Given the description of an element on the screen output the (x, y) to click on. 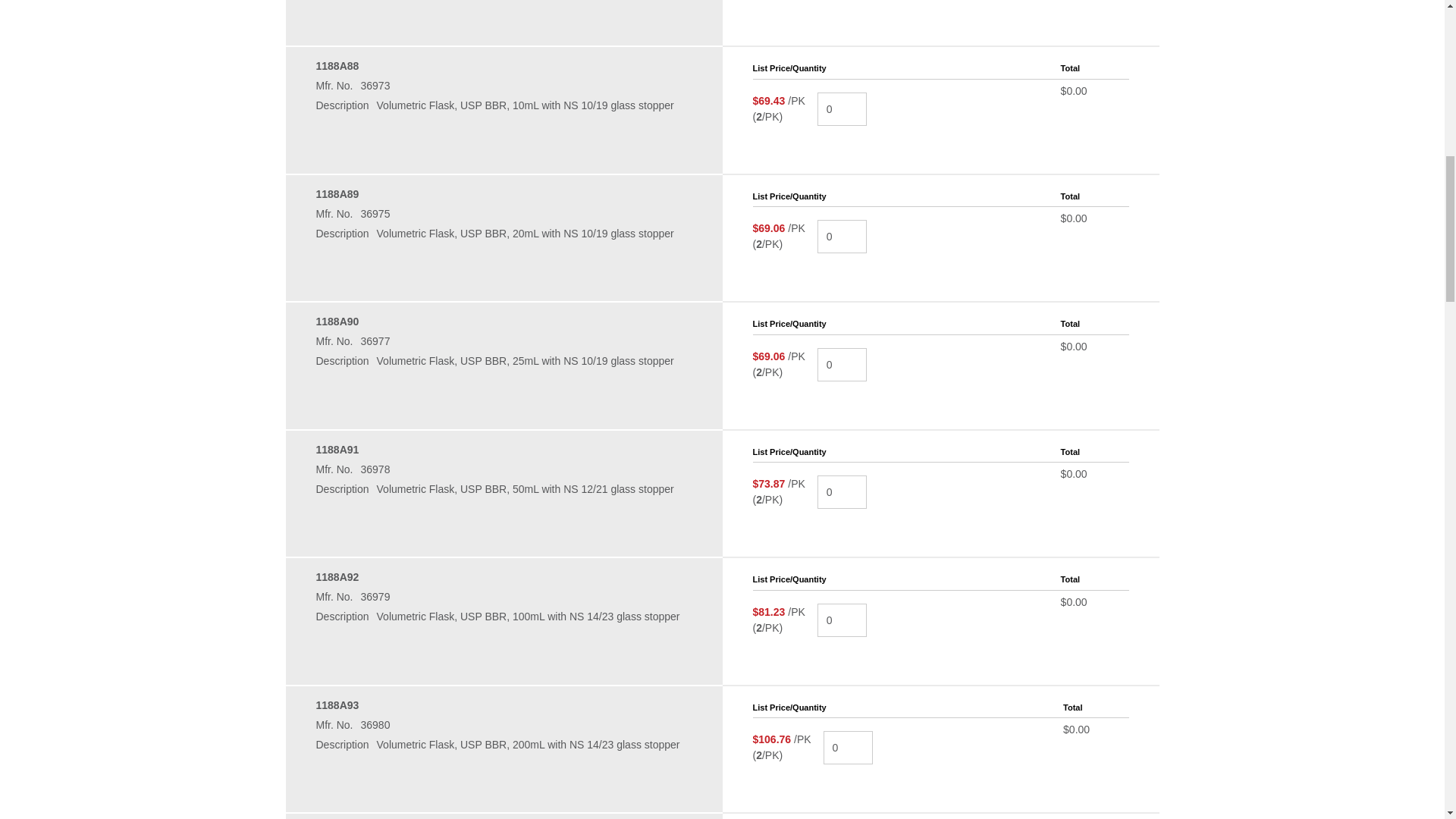
0 (848, 747)
0 (841, 491)
0 (841, 620)
0 (841, 236)
0 (841, 363)
0 (841, 109)
